Given the description of an element on the screen output the (x, y) to click on. 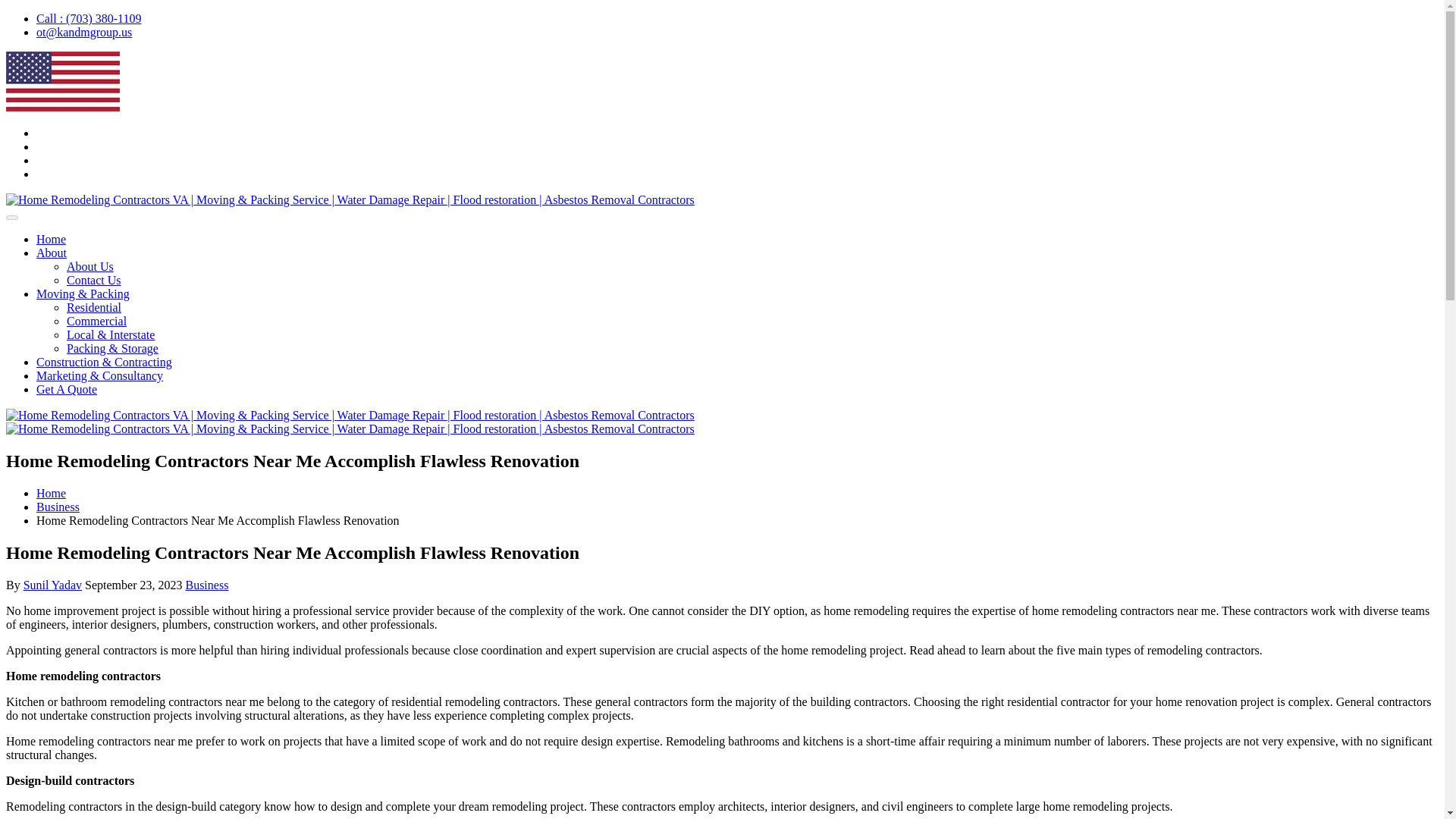
Business (206, 584)
Commercial (96, 320)
Sunil Yadav (52, 584)
Home (50, 492)
Residential (93, 307)
Get A Quote (66, 389)
About (51, 252)
Home (50, 238)
Contact Us (93, 279)
About Us (89, 266)
Business (58, 506)
Home (50, 492)
